Given the description of an element on the screen output the (x, y) to click on. 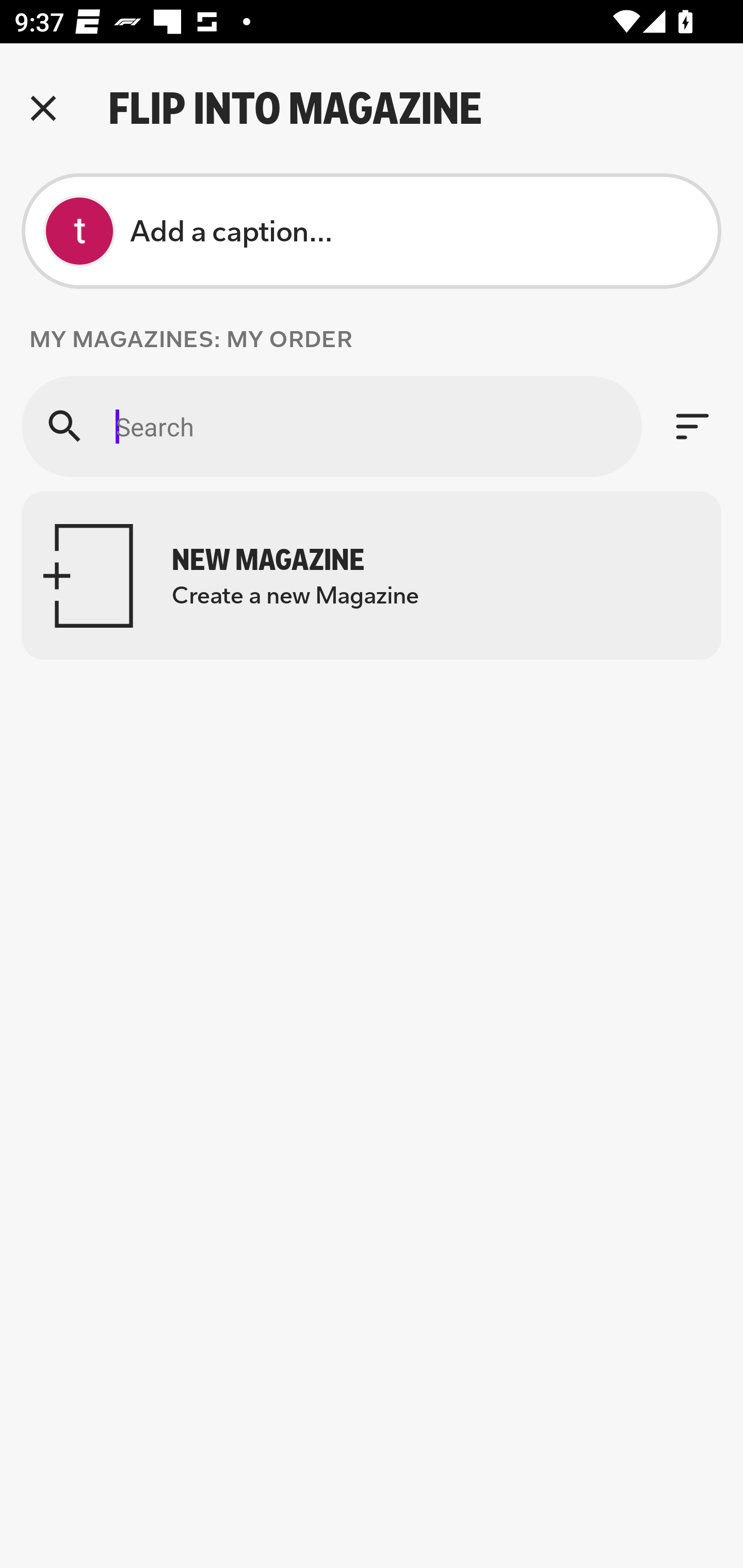
test appium Add a caption… (371, 231)
Search (331, 426)
NEW MAGAZINE Create a new Magazine (371, 575)
